Given the description of an element on the screen output the (x, y) to click on. 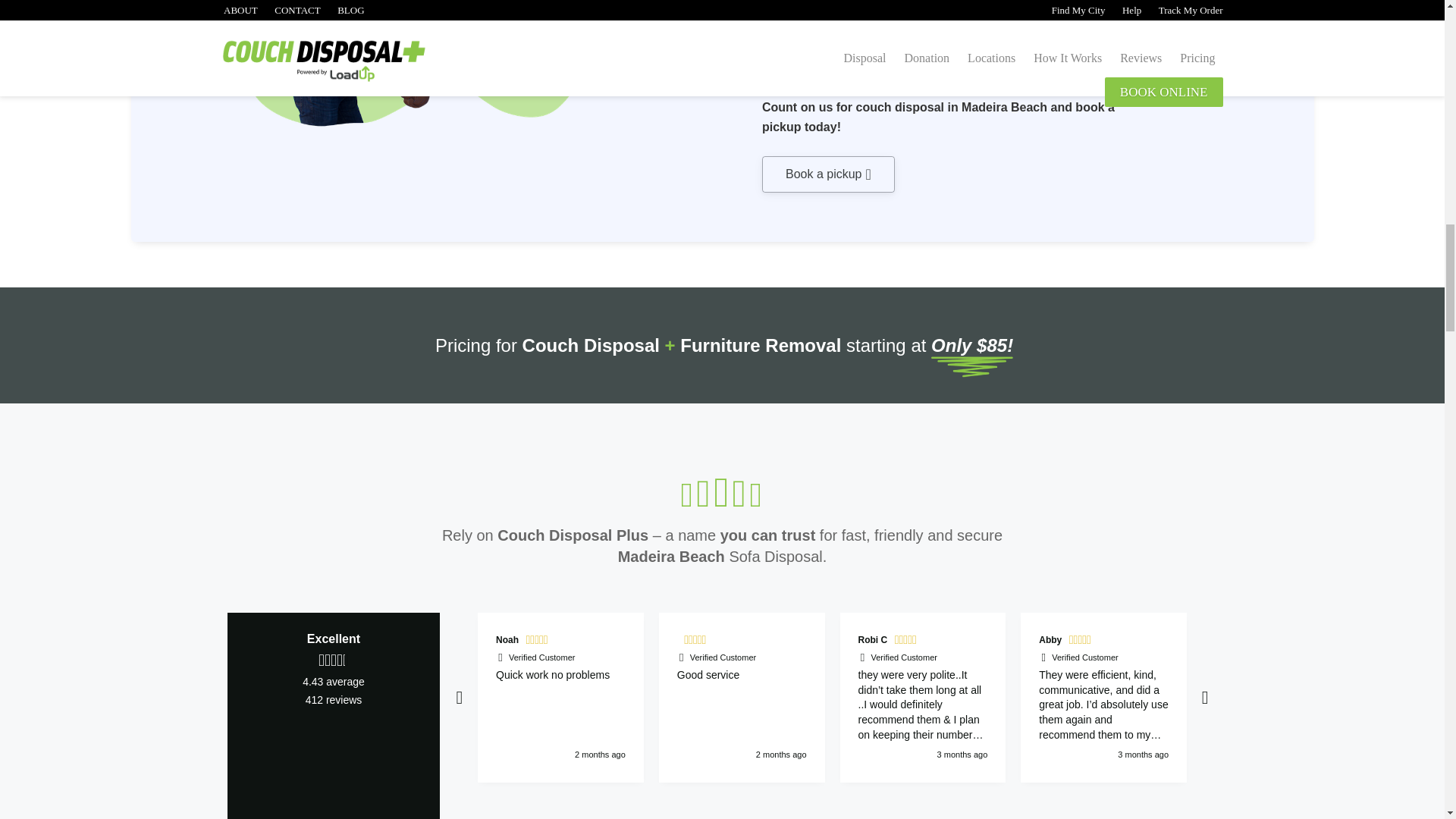
5 Stars (538, 641)
Read more reviews on REVIEWS.io (333, 757)
5 Stars (1292, 641)
5 Stars (697, 641)
5 Stars (907, 641)
4.43 Stars (333, 660)
Book couch disposal online (828, 174)
5 Stars (1081, 641)
Book a pickup (828, 174)
